Given the description of an element on the screen output the (x, y) to click on. 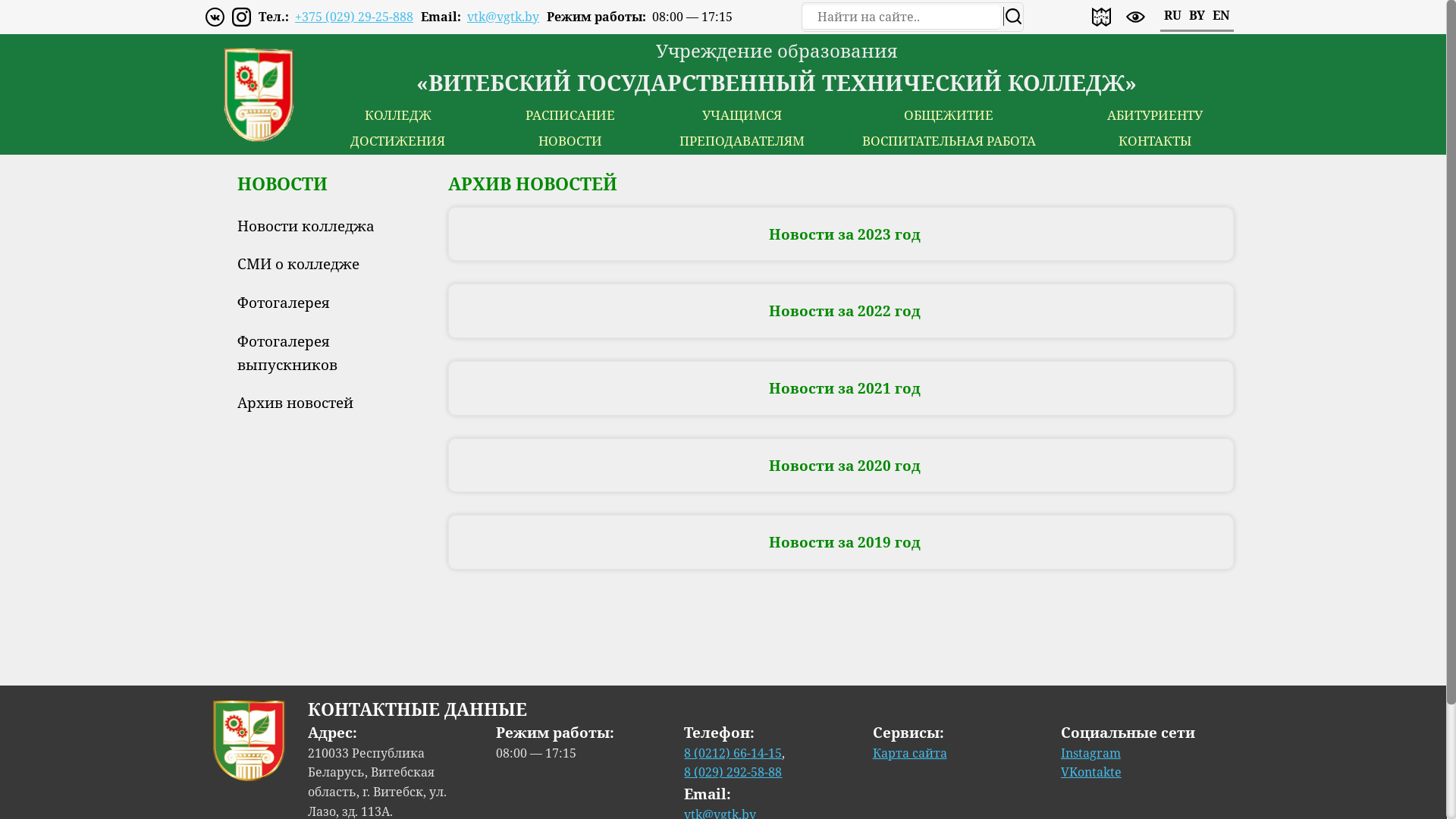
vtk@vgtk.by Element type: text (503, 17)
8 (029) 292-58-88 Element type: text (732, 771)
Instagram Element type: text (1090, 752)
8 (0212) 66-14-15 Element type: text (732, 752)
EN Element type: text (1220, 15)
+375 (029) 29-25-888 Element type: text (353, 17)
RU Element type: text (1172, 15)
BY Element type: text (1196, 15)
enable accessibility version Element type: hover (1135, 16)
VKontakte Element type: text (1090, 771)
search Element type: hover (1012, 15)
